Given the description of an element on the screen output the (x, y) to click on. 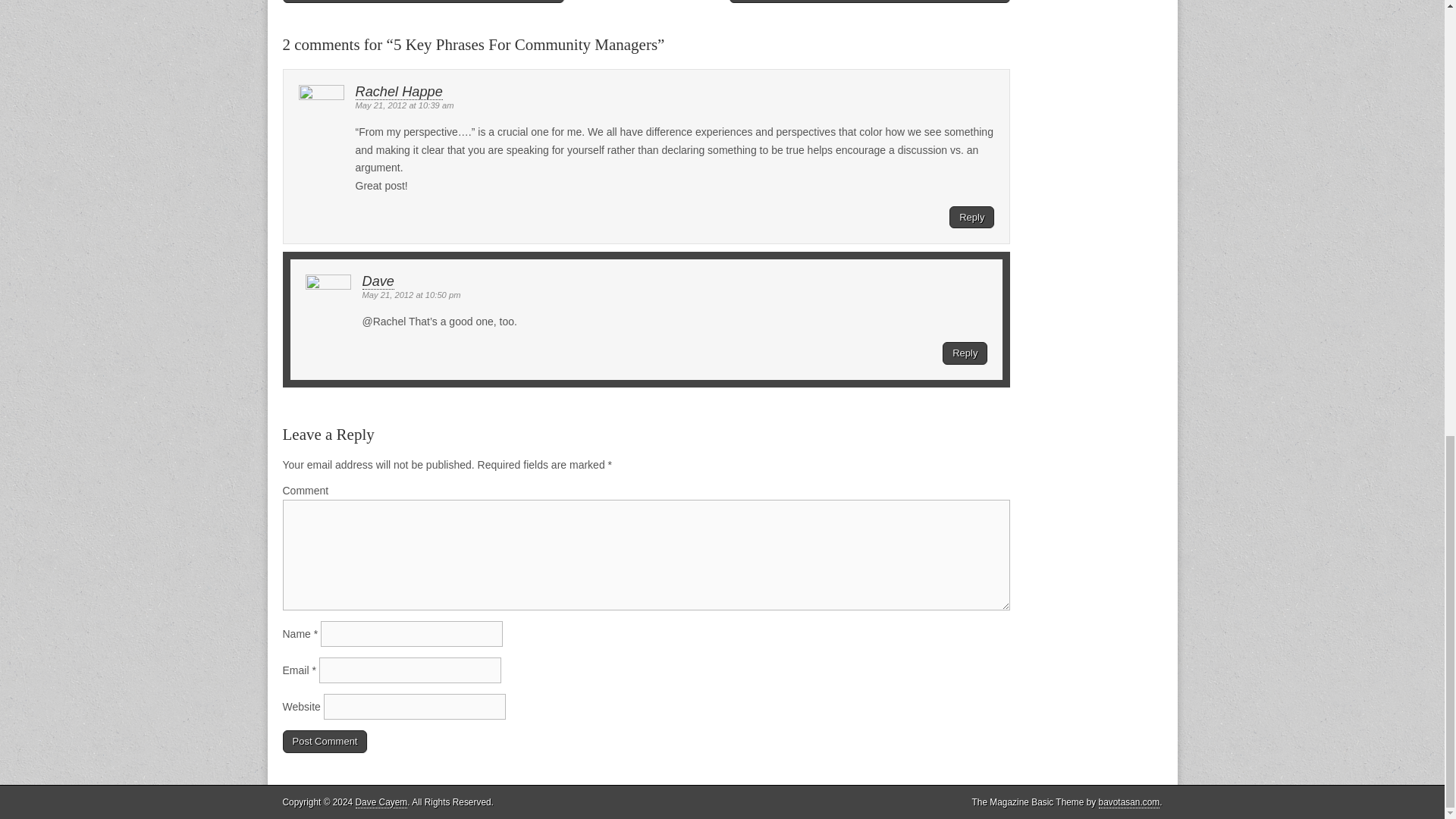
Dave Cayem (381, 802)
Post Comment (324, 741)
Rachel Happe (398, 91)
bavotasan.com (1129, 802)
Reply (971, 217)
Dave (378, 281)
Post Comment (324, 741)
Reply (964, 353)
